Given the description of an element on the screen output the (x, y) to click on. 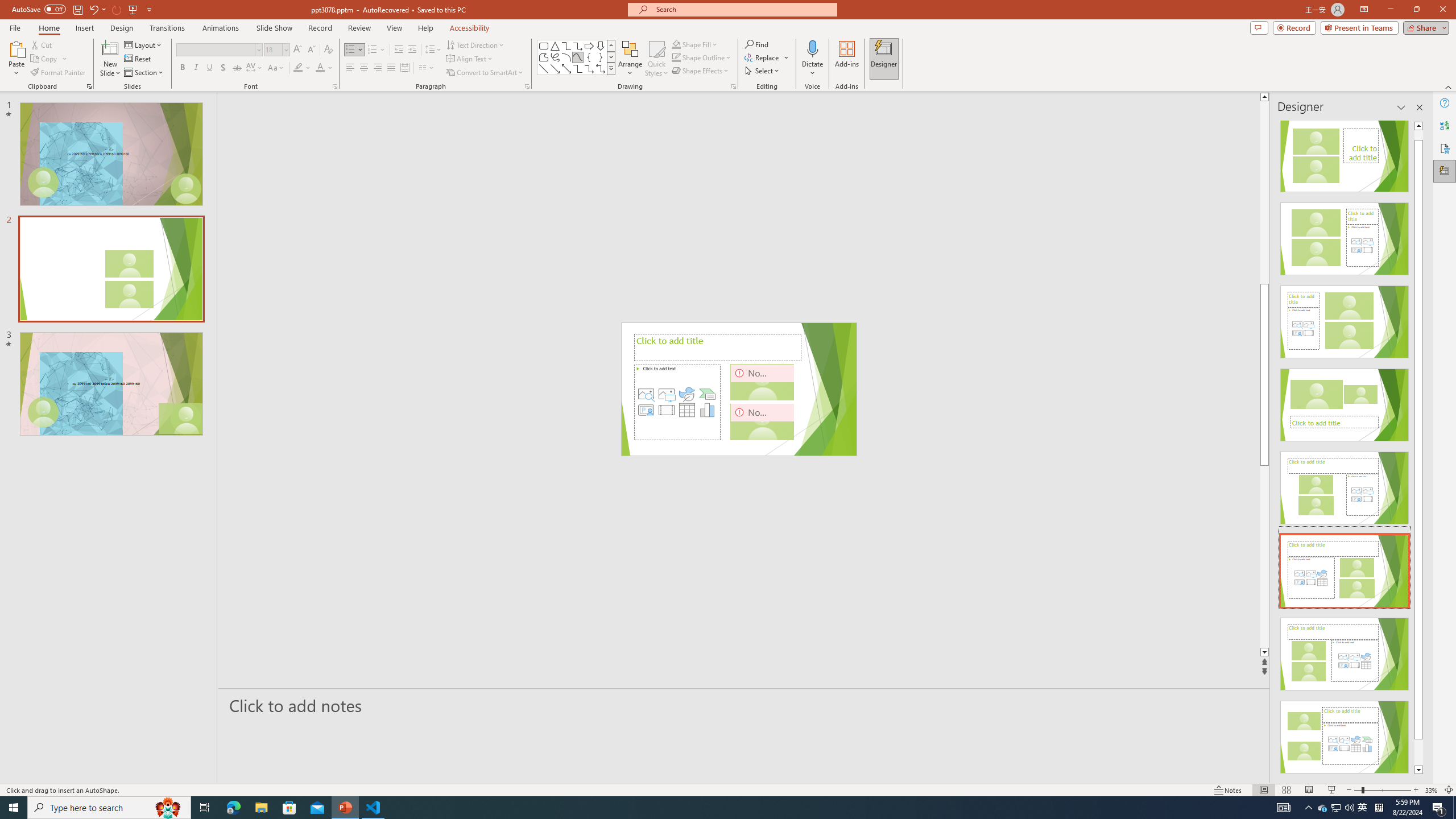
Camera 3, No camera detected. (761, 421)
